Given the description of an element on the screen output the (x, y) to click on. 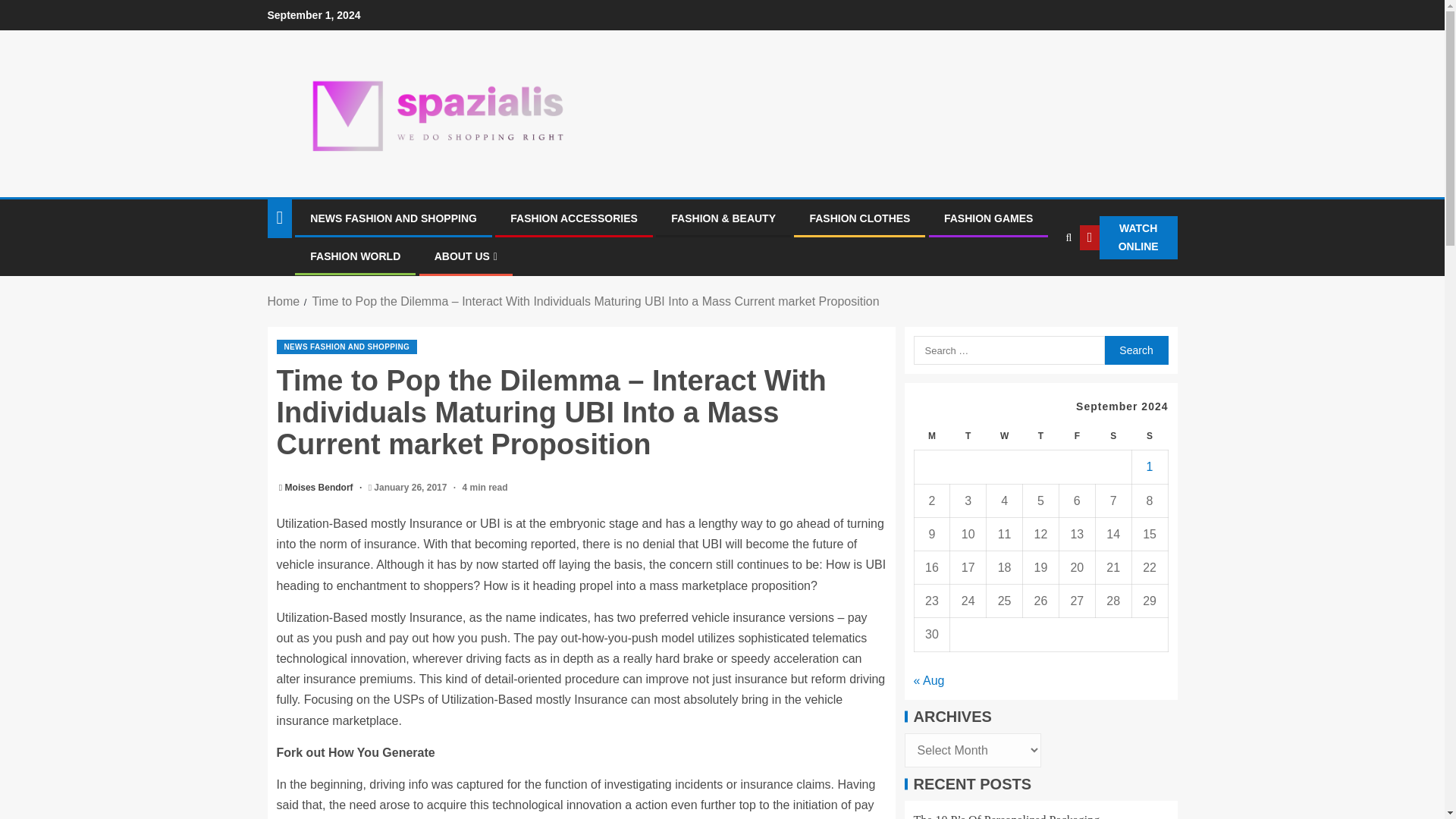
Search (1135, 349)
Monday (932, 436)
FASHION GAMES (987, 218)
Friday (1076, 436)
NEWS FASHION AND SHOPPING (346, 346)
Saturday (1112, 436)
ABOUT US (465, 256)
Home (282, 300)
Search (1037, 284)
Thursday (1041, 436)
